Given the description of an element on the screen output the (x, y) to click on. 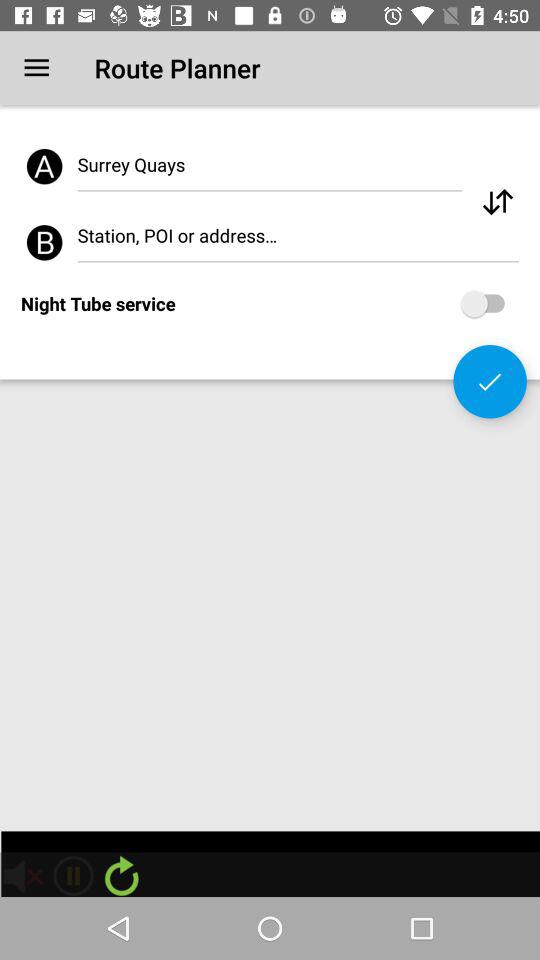
confirm route (489, 381)
